Given the description of an element on the screen output the (x, y) to click on. 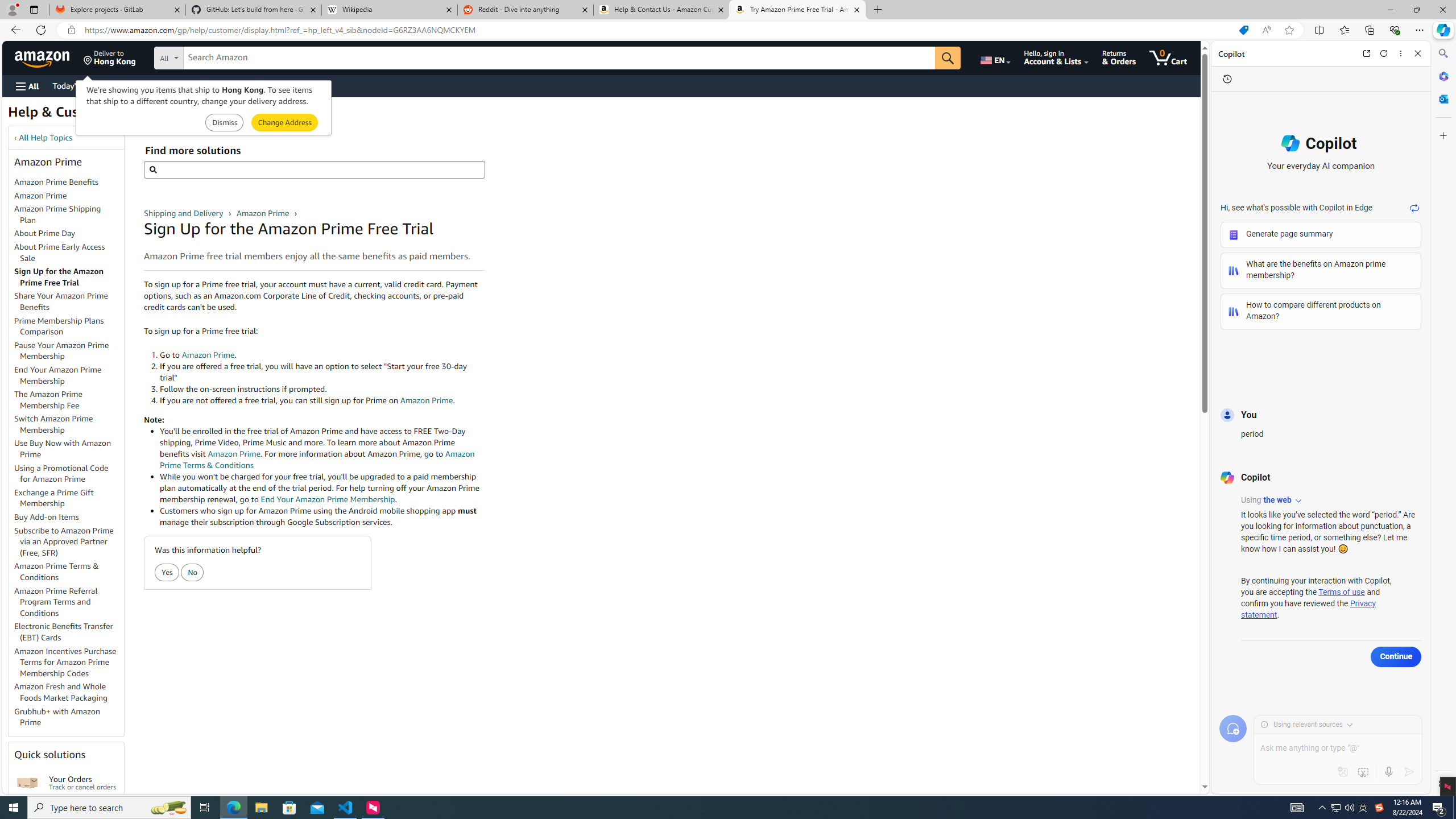
Follow the on-screen instructions if prompted. (322, 389)
Use Buy Now with Amazon Prime (63, 449)
End Your Amazon Prime Membership (68, 375)
End Your Amazon Prime Membership (57, 374)
